Given the description of an element on the screen output the (x, y) to click on. 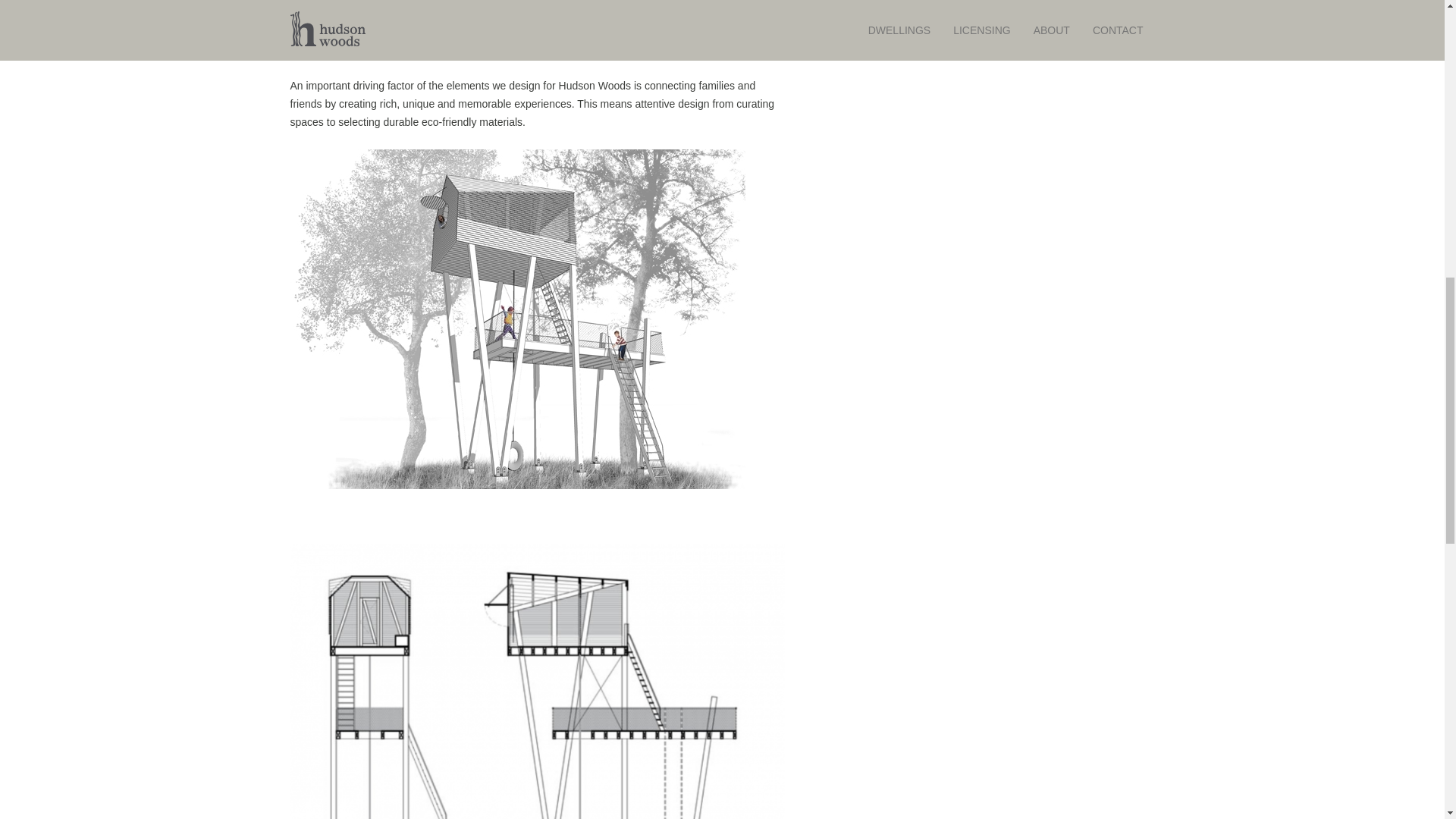
Richlite (600, 30)
